Given the description of an element on the screen output the (x, y) to click on. 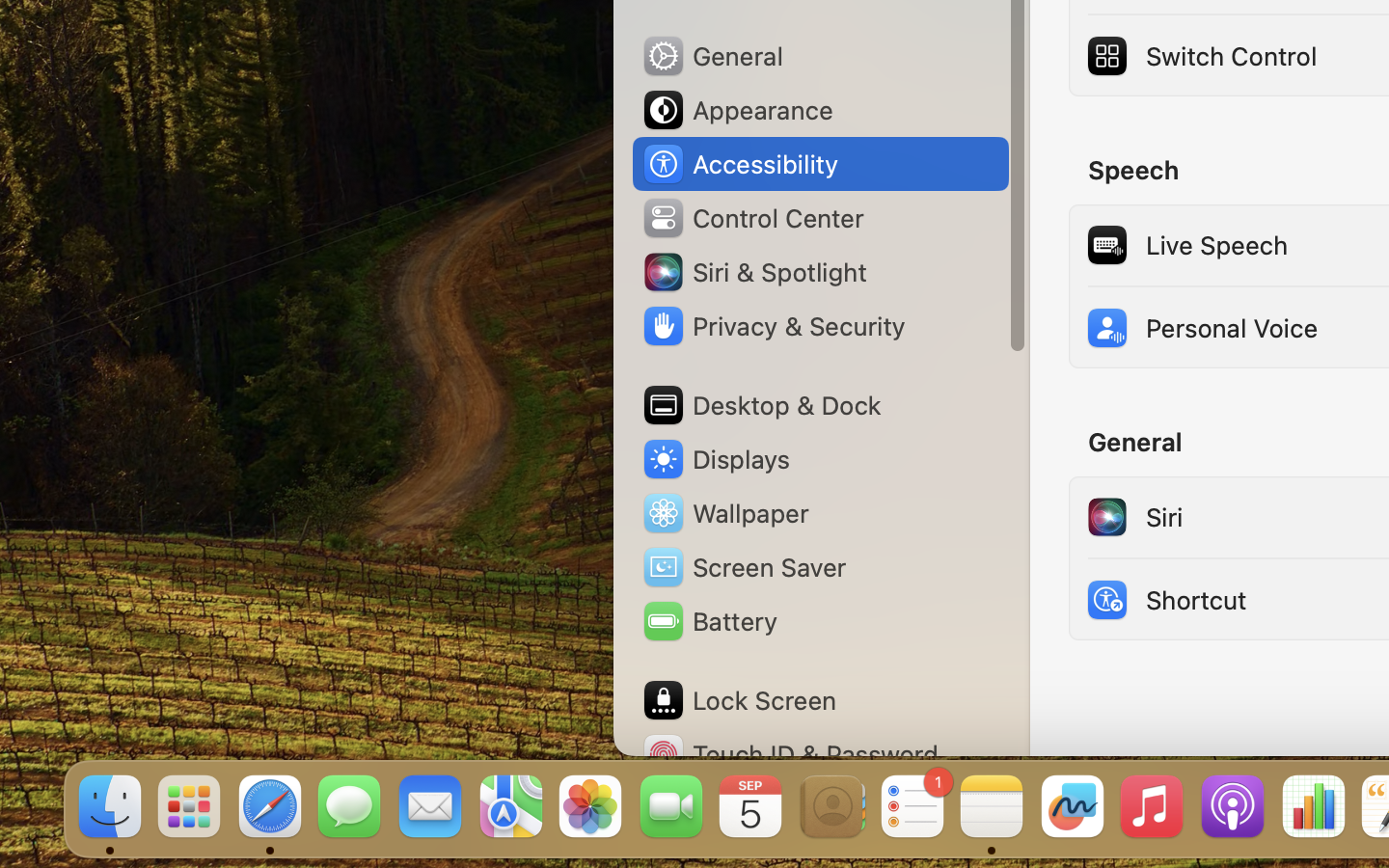
Battery Element type: AXStaticText (708, 620)
Appearance Element type: AXStaticText (736, 109)
Displays Element type: AXStaticText (715, 458)
Wallpaper Element type: AXStaticText (724, 512)
General Element type: AXStaticText (711, 55)
